Given the description of an element on the screen output the (x, y) to click on. 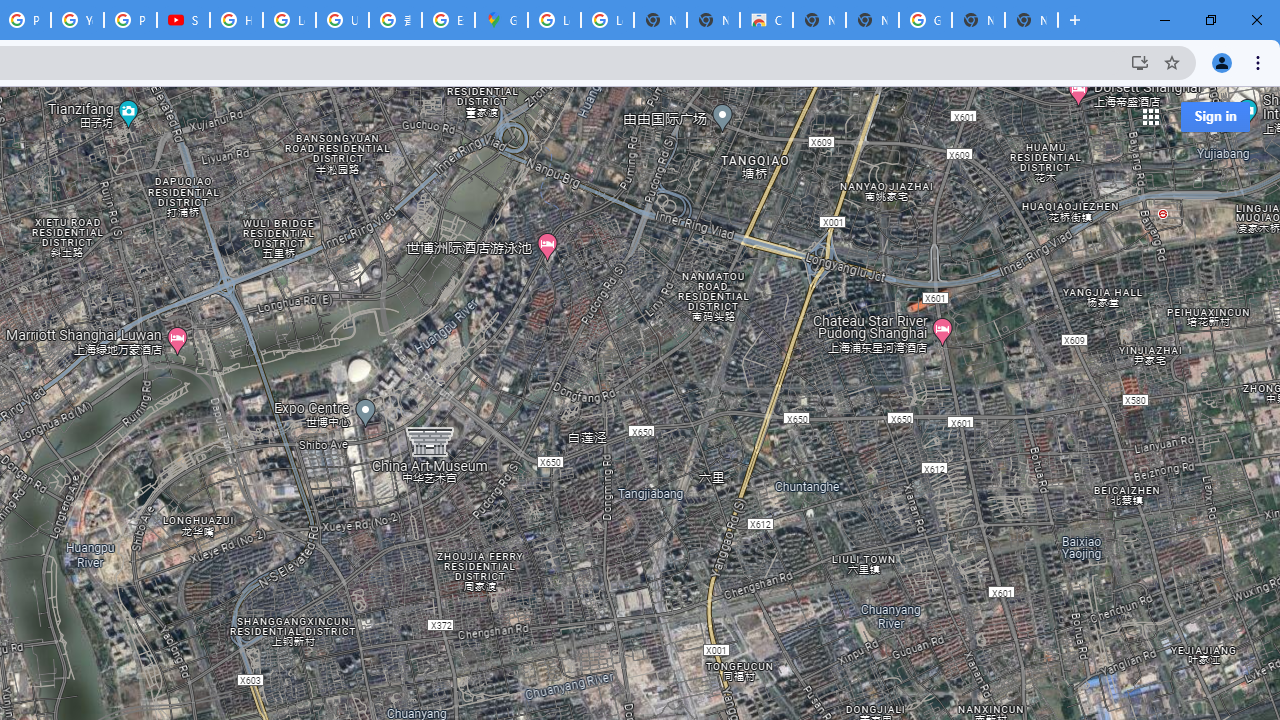
How Chrome protects your passwords - Google Chrome Help (235, 20)
Install Google Maps (1139, 62)
Chrome Web Store (766, 20)
Google Images (925, 20)
YouTube (77, 20)
